Given the description of an element on the screen output the (x, y) to click on. 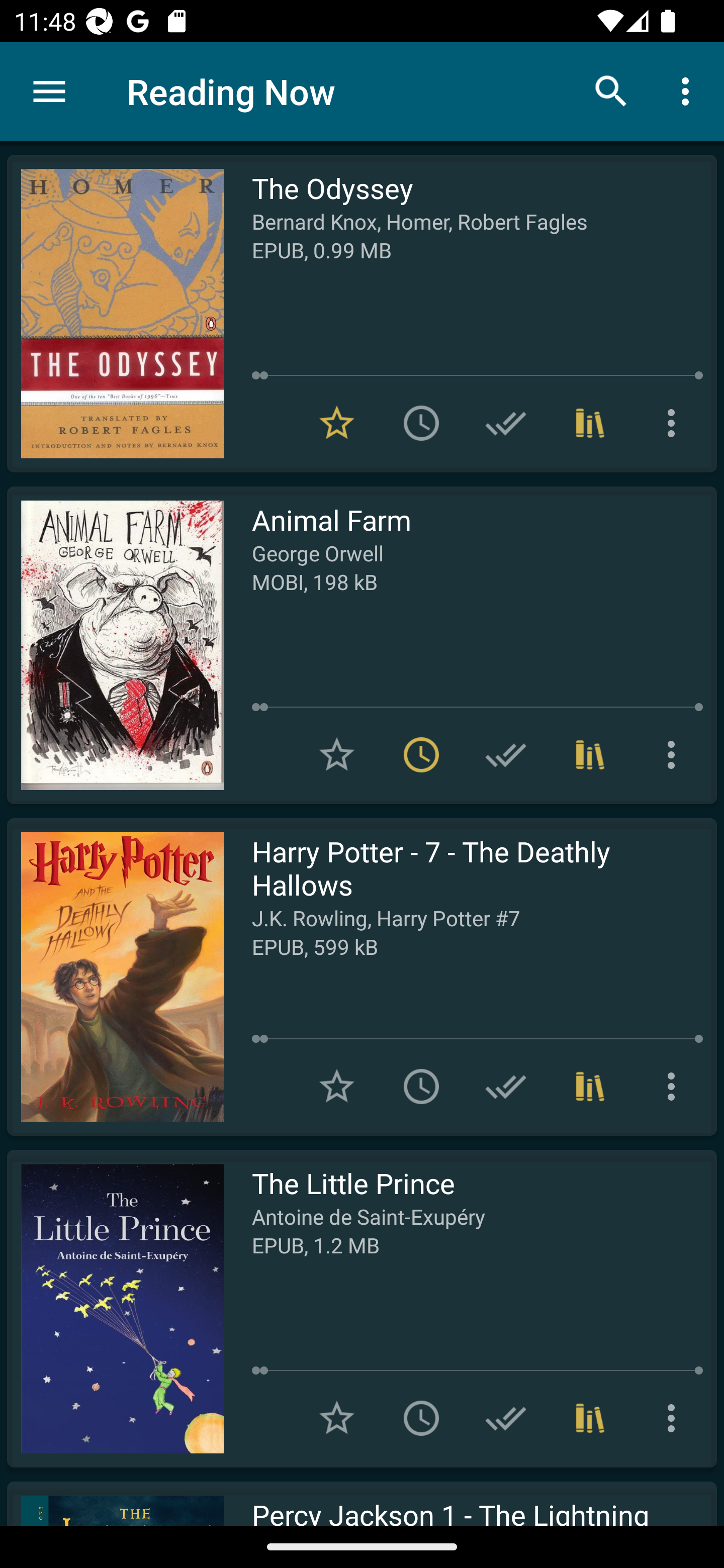
Menu (49, 91)
Search books & documents (611, 90)
More options (688, 90)
Read The Odyssey (115, 313)
Remove from Favorites (336, 423)
Add to To read (421, 423)
Add to Have read (505, 423)
Collections (1) (590, 423)
More options (674, 423)
Read Animal Farm (115, 645)
Add to Favorites (336, 753)
Remove from To read (421, 753)
Add to Have read (505, 753)
Collections (1) (590, 753)
More options (674, 753)
Read Harry Potter - 7 - The Deathly Hallows (115, 976)
Add to Favorites (336, 1086)
Add to To read (421, 1086)
Add to Have read (505, 1086)
Collections (1) (590, 1086)
More options (674, 1086)
Read The Little Prince (115, 1308)
Add to Favorites (336, 1417)
Add to To read (421, 1417)
Add to Have read (505, 1417)
Collections (1) (590, 1417)
More options (674, 1417)
